Given the description of an element on the screen output the (x, y) to click on. 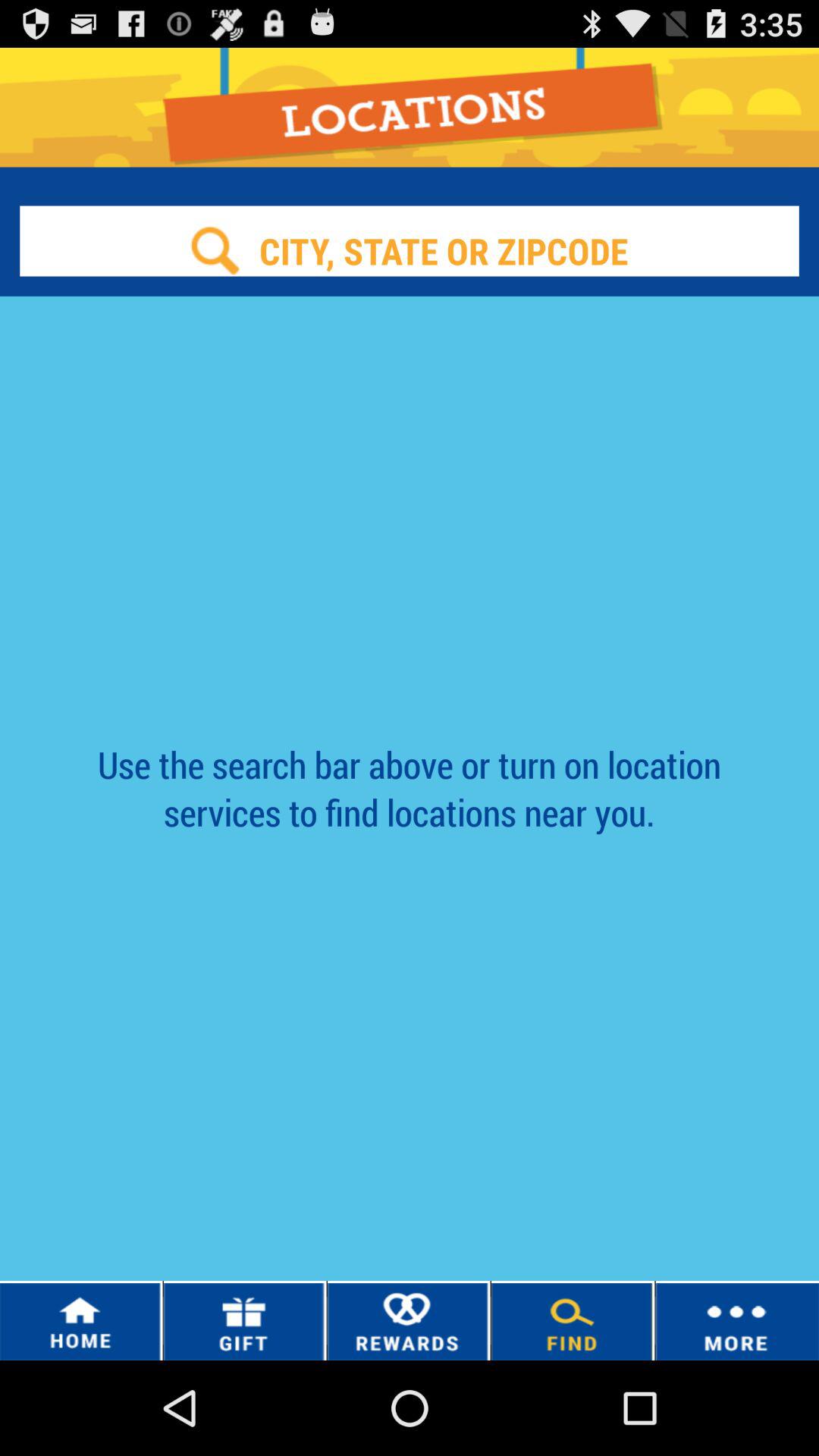
search location (408, 250)
